Given the description of an element on the screen output the (x, y) to click on. 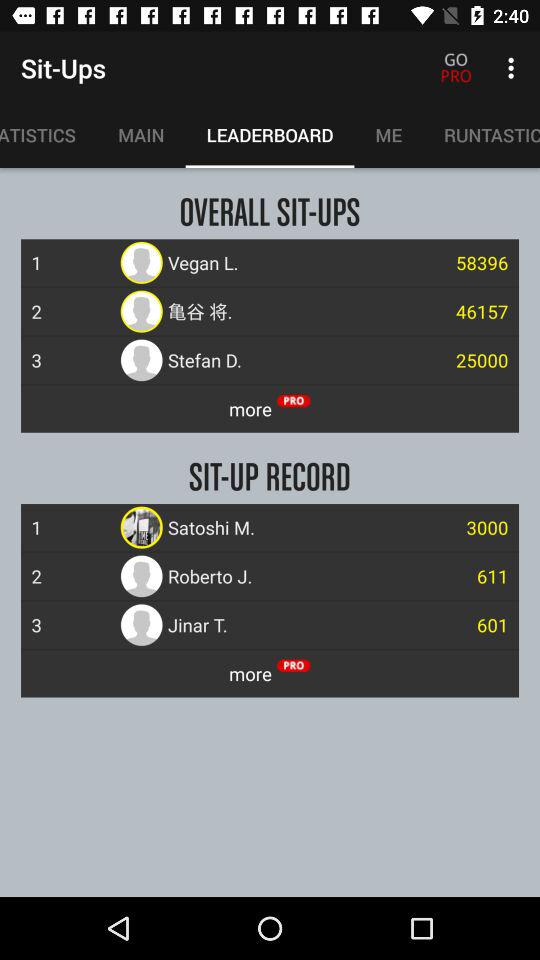
scroll to me (388, 135)
